Given the description of an element on the screen output the (x, y) to click on. 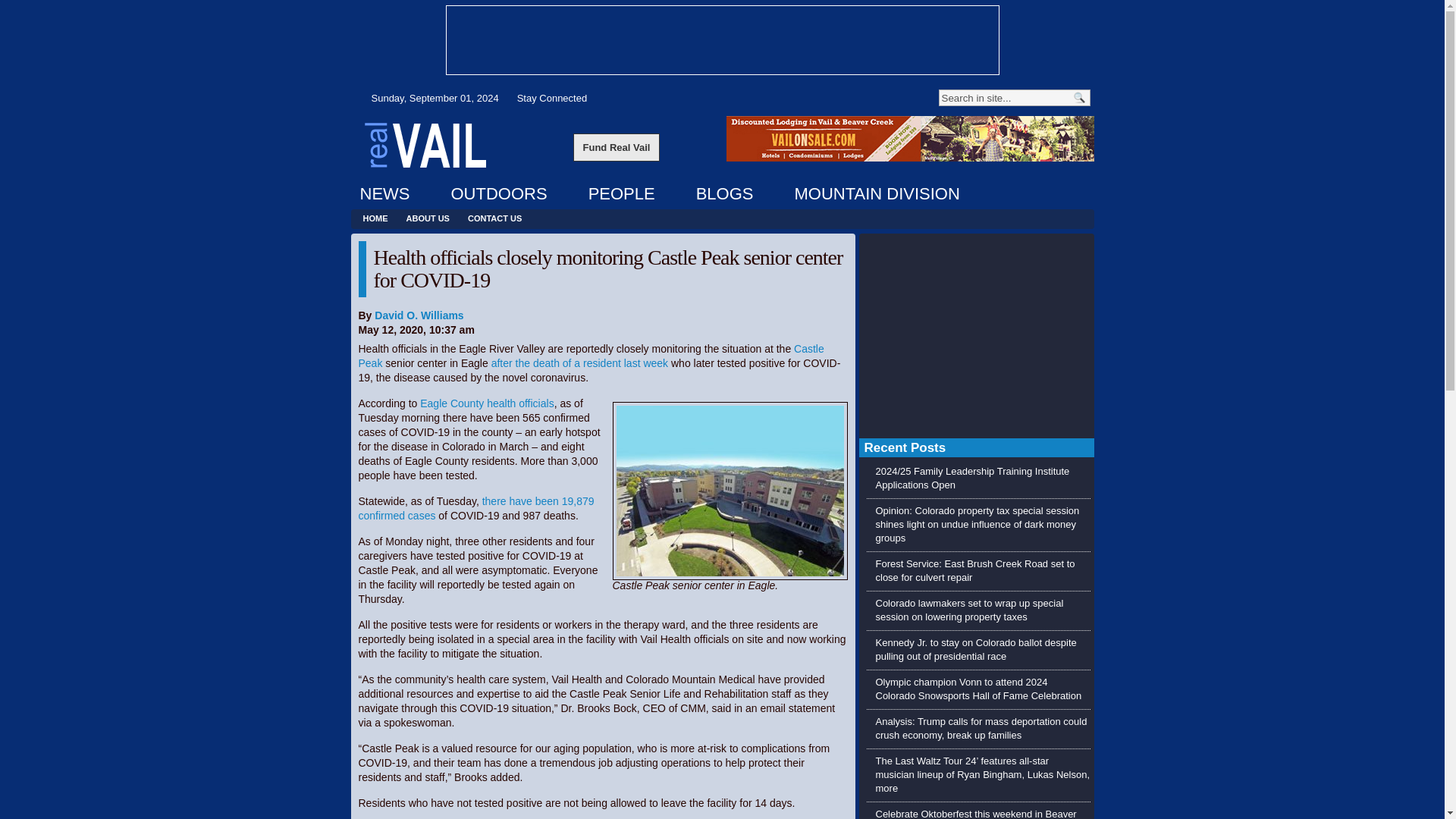
BLOGS (724, 193)
Eagle County health officials (486, 403)
Castle Peak (591, 356)
Vail Valley News, Guides, and Information (424, 144)
after the death of a resident last week (580, 363)
PEOPLE (621, 193)
HOME (374, 218)
there have been 19,879 confirmed cases (476, 508)
OUTDOORS (498, 193)
NEWS (384, 193)
